Given the description of an element on the screen output the (x, y) to click on. 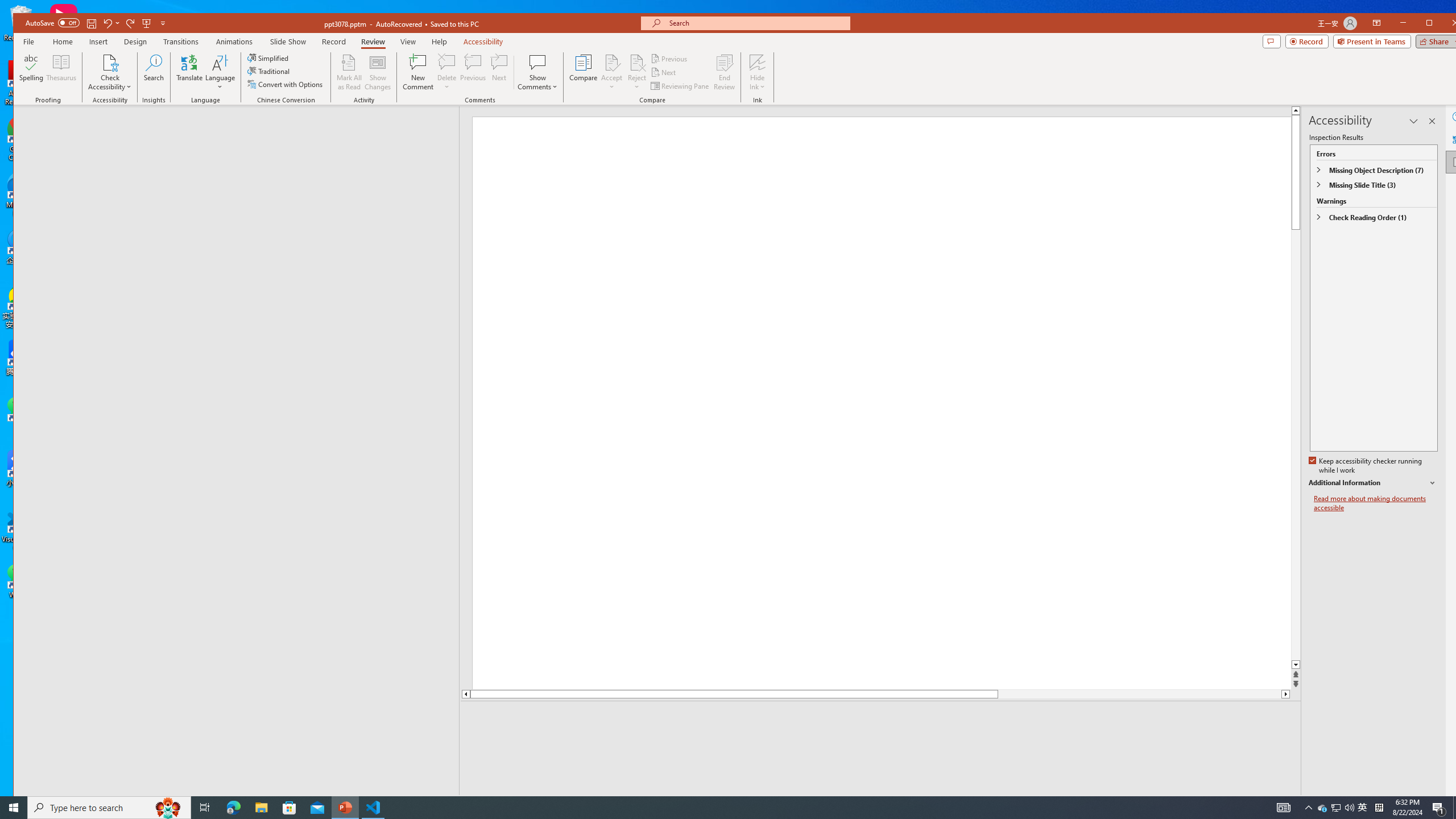
Next (664, 72)
Accept Change (611, 61)
Accept (611, 72)
